Given the description of an element on the screen output the (x, y) to click on. 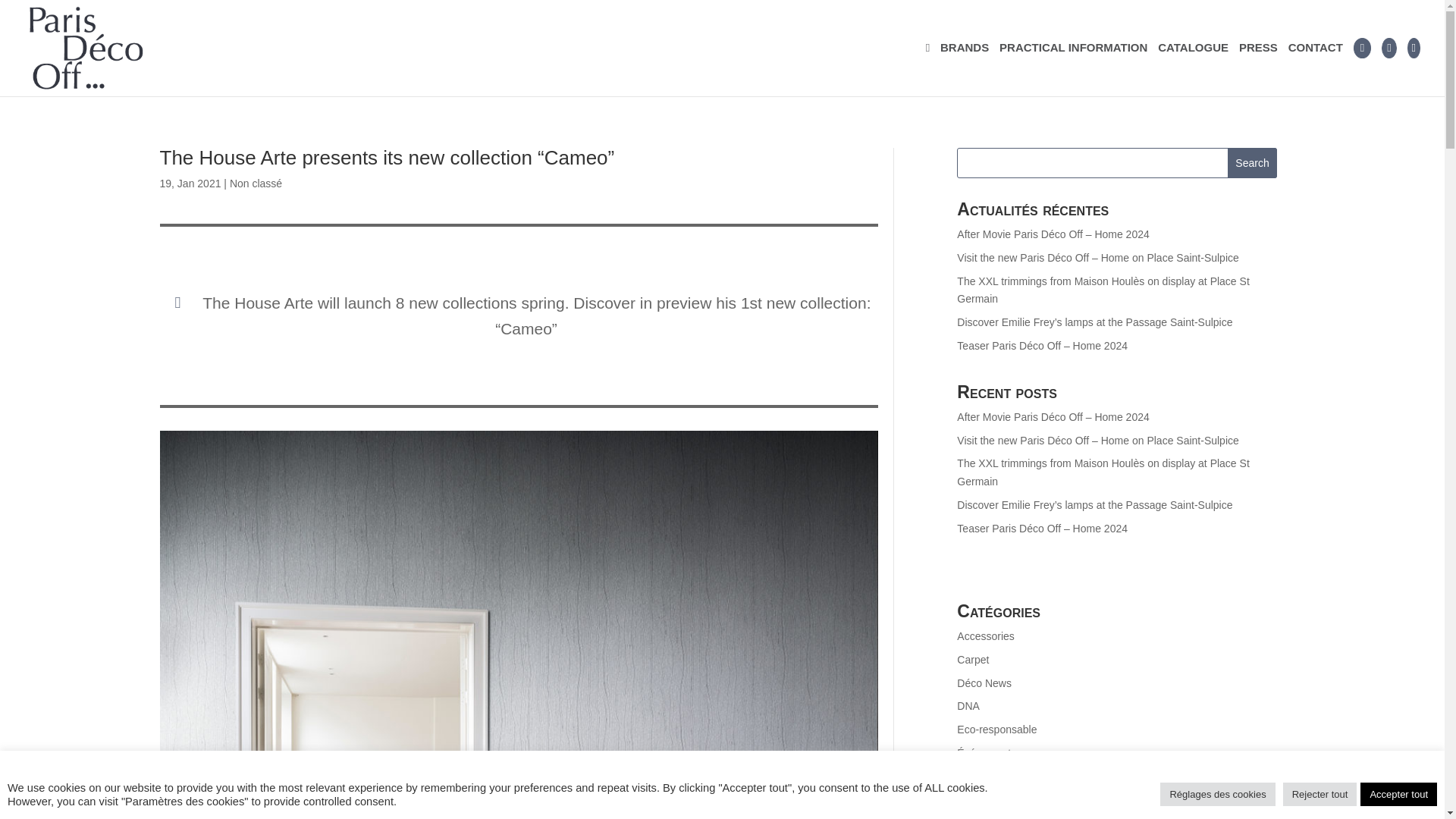
Search (1252, 163)
PRACTICAL INFORMATION (1072, 66)
CATALOGUE (1192, 66)
Eco-responsable (996, 729)
BRANDS (964, 66)
CONTACT (1315, 66)
Search (1252, 163)
Carpet (972, 659)
Event (970, 776)
Accessories (984, 635)
Fabrics (973, 799)
DNA (967, 705)
